Given the description of an element on the screen output the (x, y) to click on. 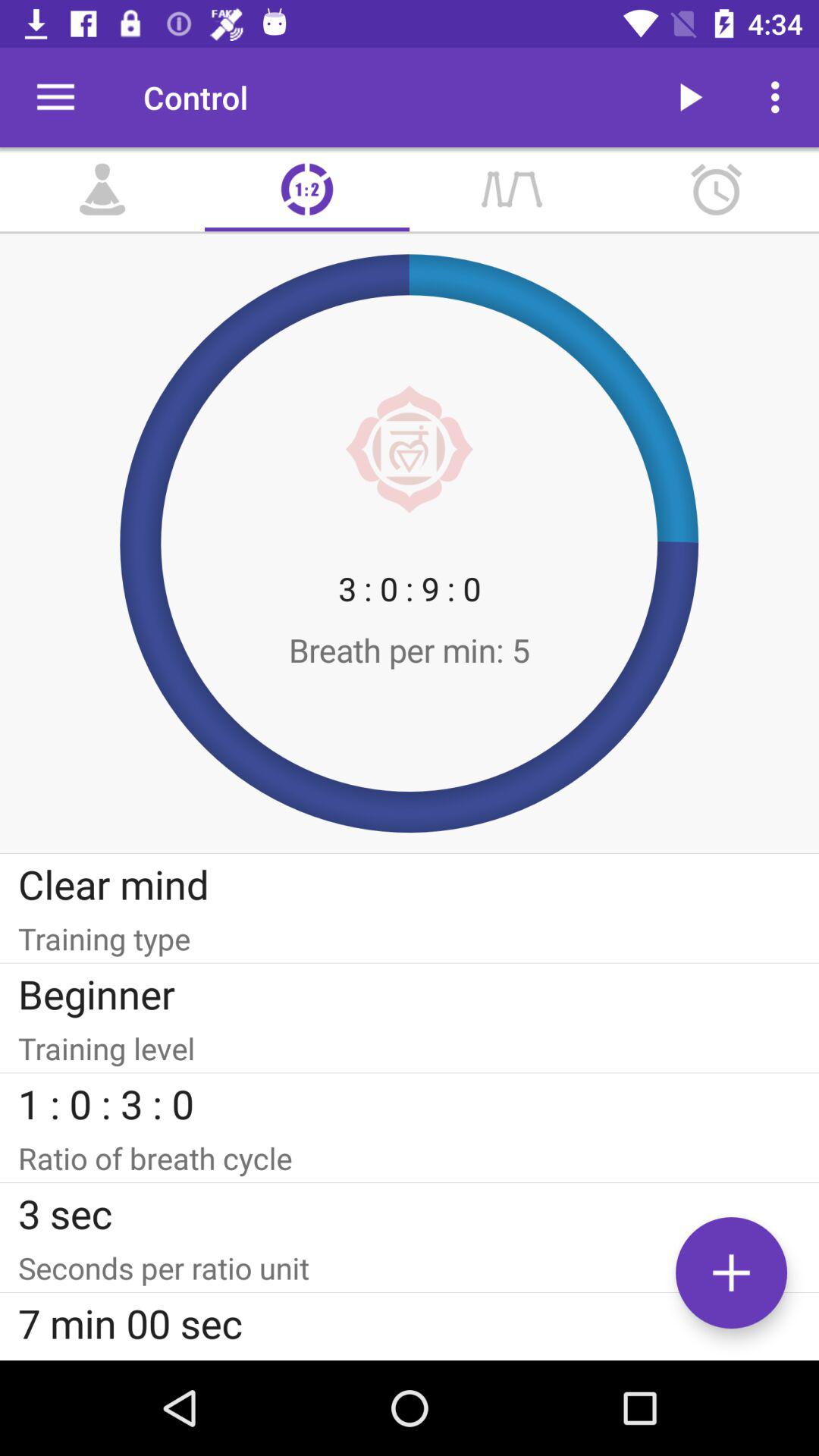
choose the 3 sec icon (409, 1213)
